Given the description of an element on the screen output the (x, y) to click on. 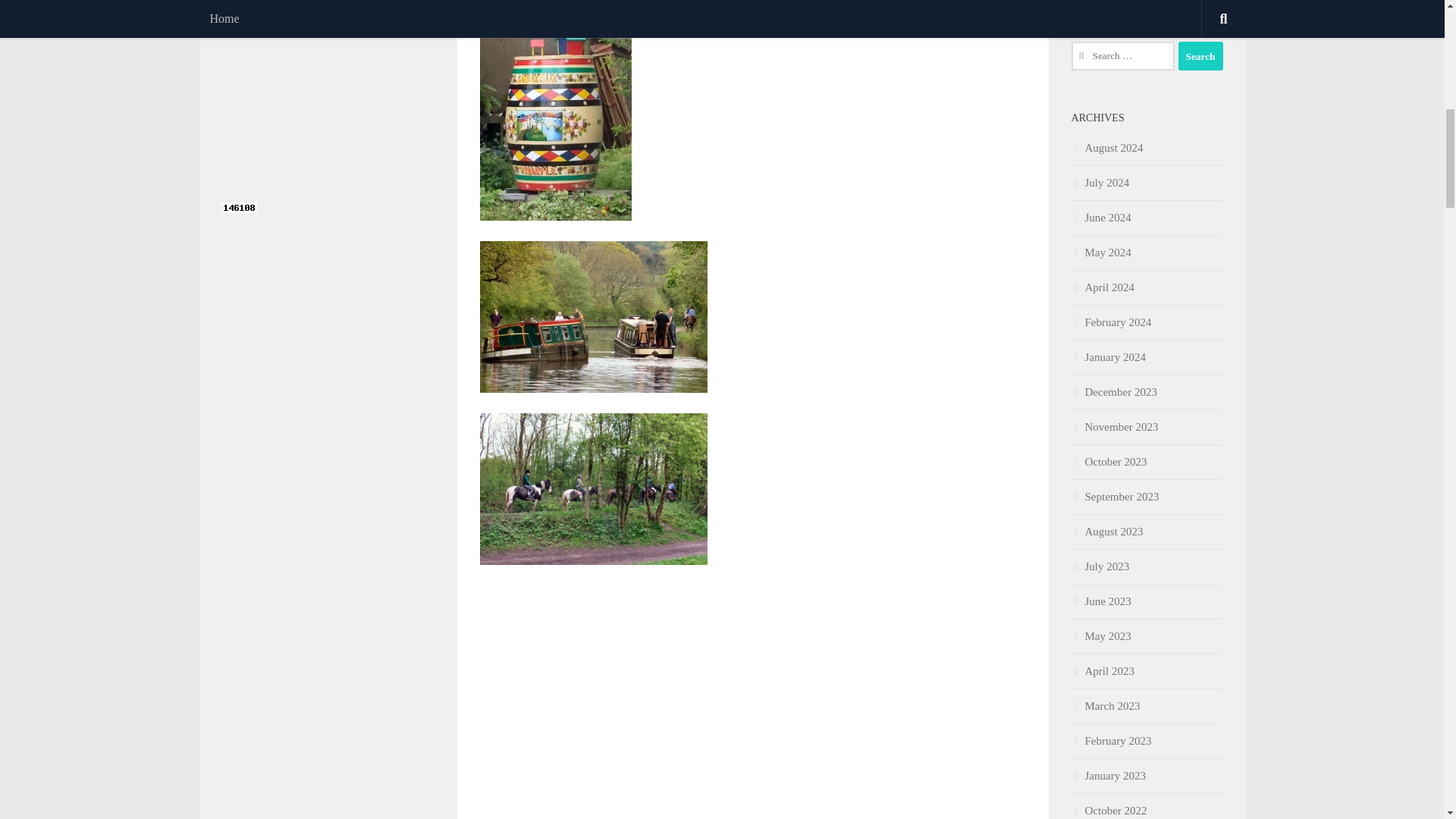
Search (1200, 55)
Search (1200, 55)
